Given the description of an element on the screen output the (x, y) to click on. 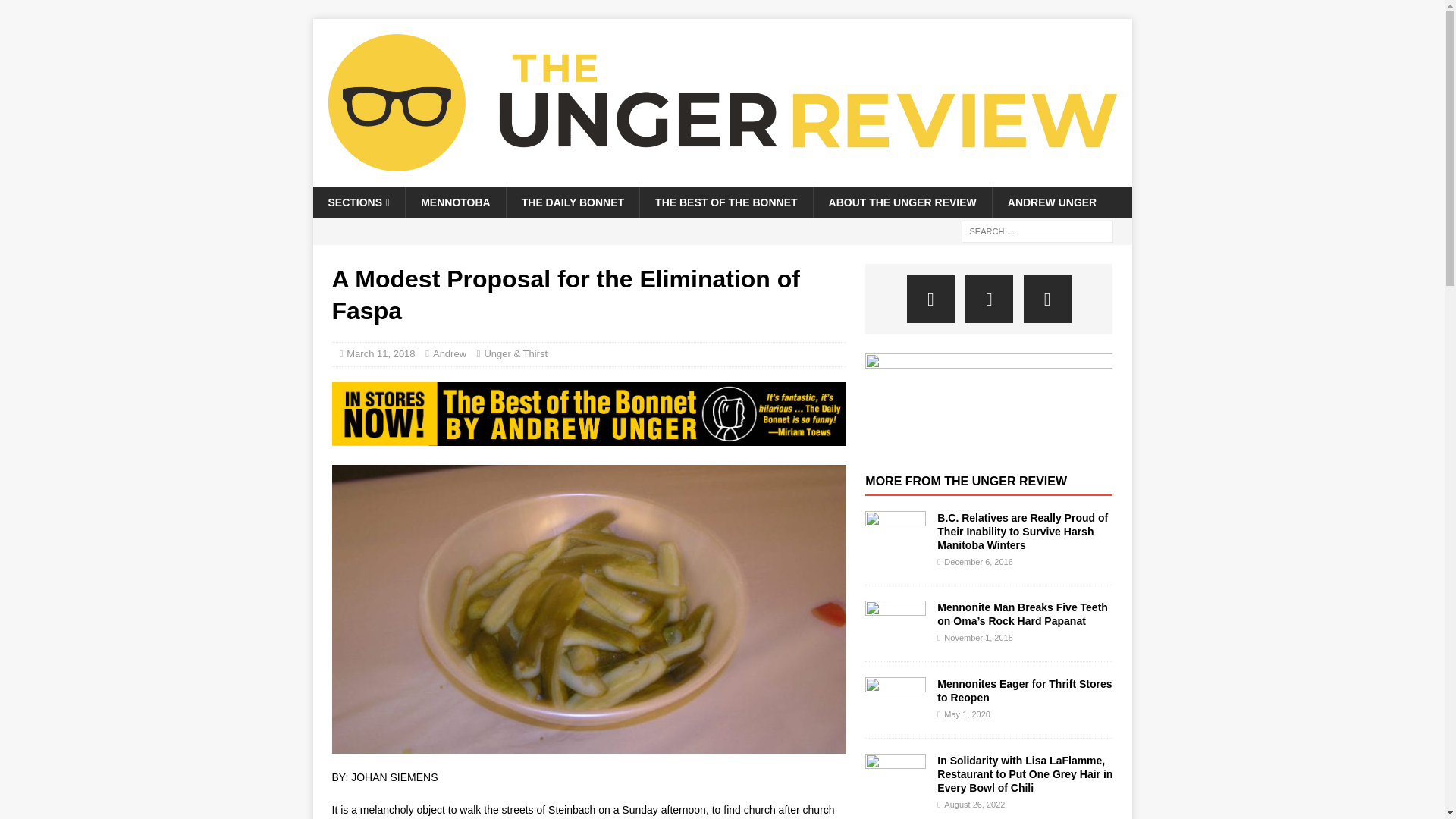
SECTIONS (358, 202)
THE DAILY BONNET (572, 202)
ANDREW UNGER (1051, 202)
March 11, 2018 (380, 353)
ABOUT THE UNGER REVIEW (901, 202)
MENNOTOBA (454, 202)
THE BEST OF THE BONNET (725, 202)
Andrew (448, 353)
Search (56, 11)
